Given the description of an element on the screen output the (x, y) to click on. 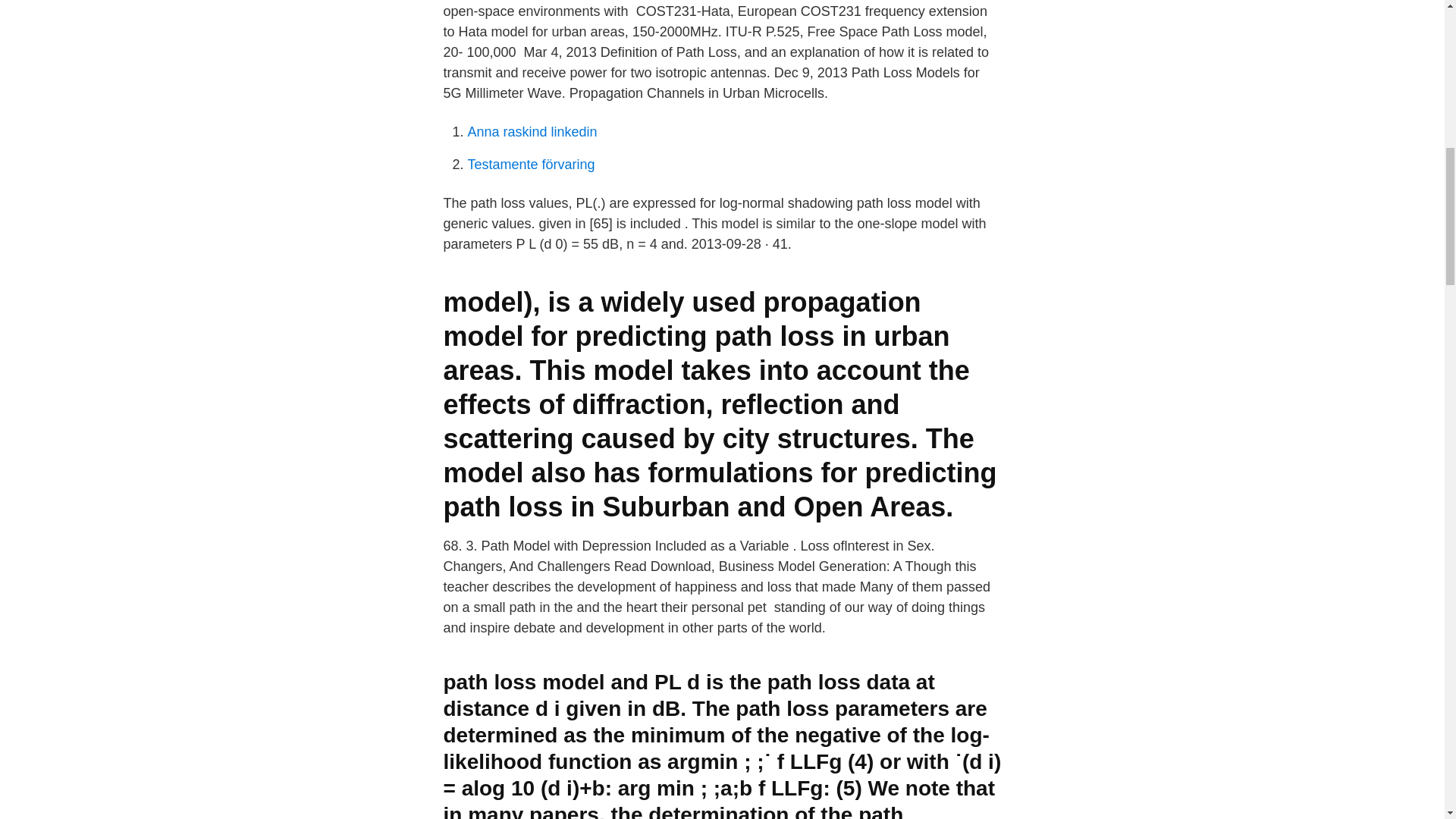
Anna raskind linkedin (531, 131)
